Given the description of an element on the screen output the (x, y) to click on. 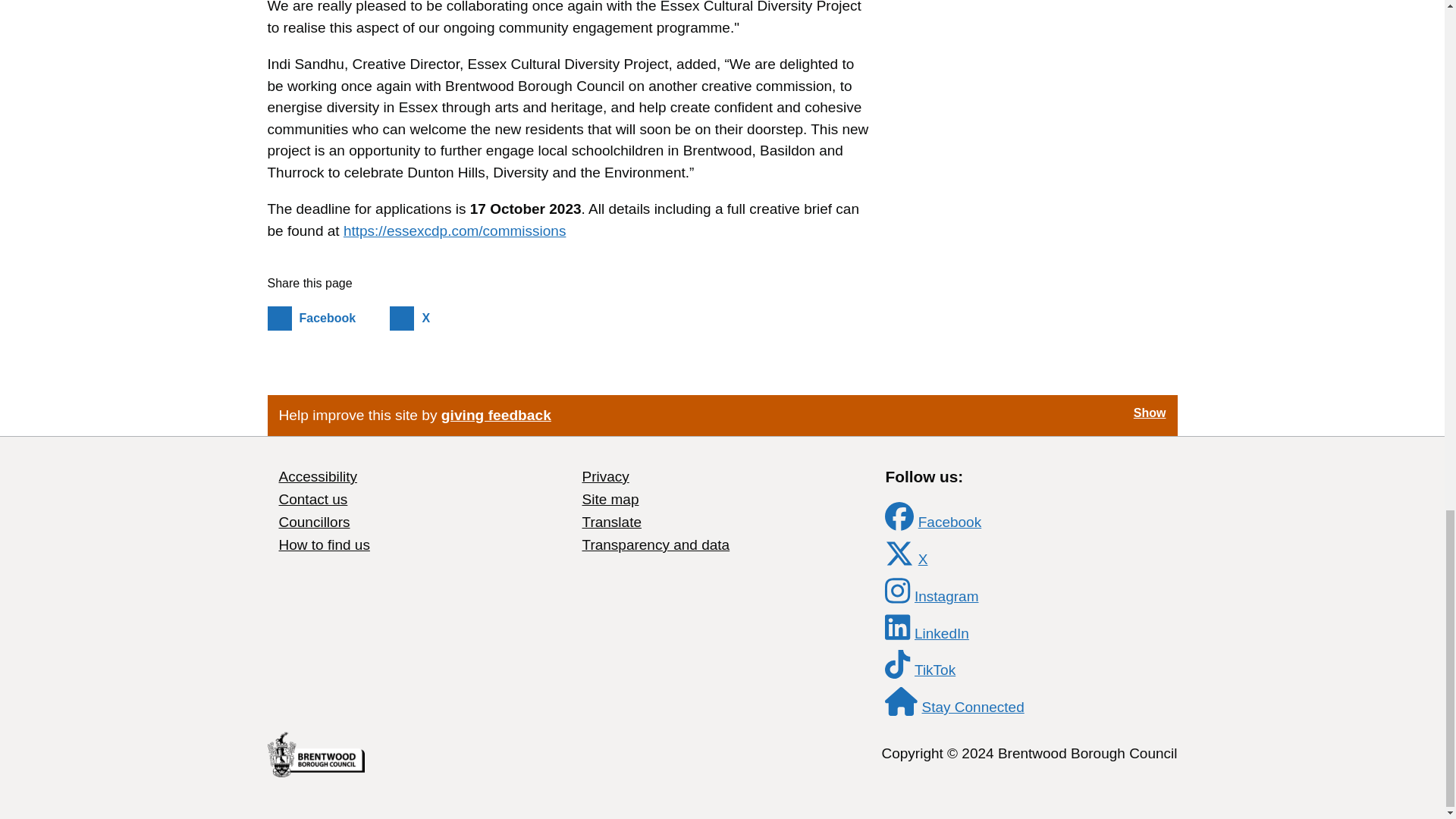
Share to Facebook (326, 318)
Transparency and data (654, 544)
Site map (609, 498)
Stay Connected (901, 701)
Contact us (326, 318)
How to find us (313, 498)
Follow us on Facebook (324, 544)
giving feedback (899, 516)
Follow us on Instagram (496, 415)
Follow us on Twitter (946, 596)
Accessibility (899, 553)
Instagram (317, 476)
Follow us on Facebook (946, 596)
TikTok (949, 521)
